Given the description of an element on the screen output the (x, y) to click on. 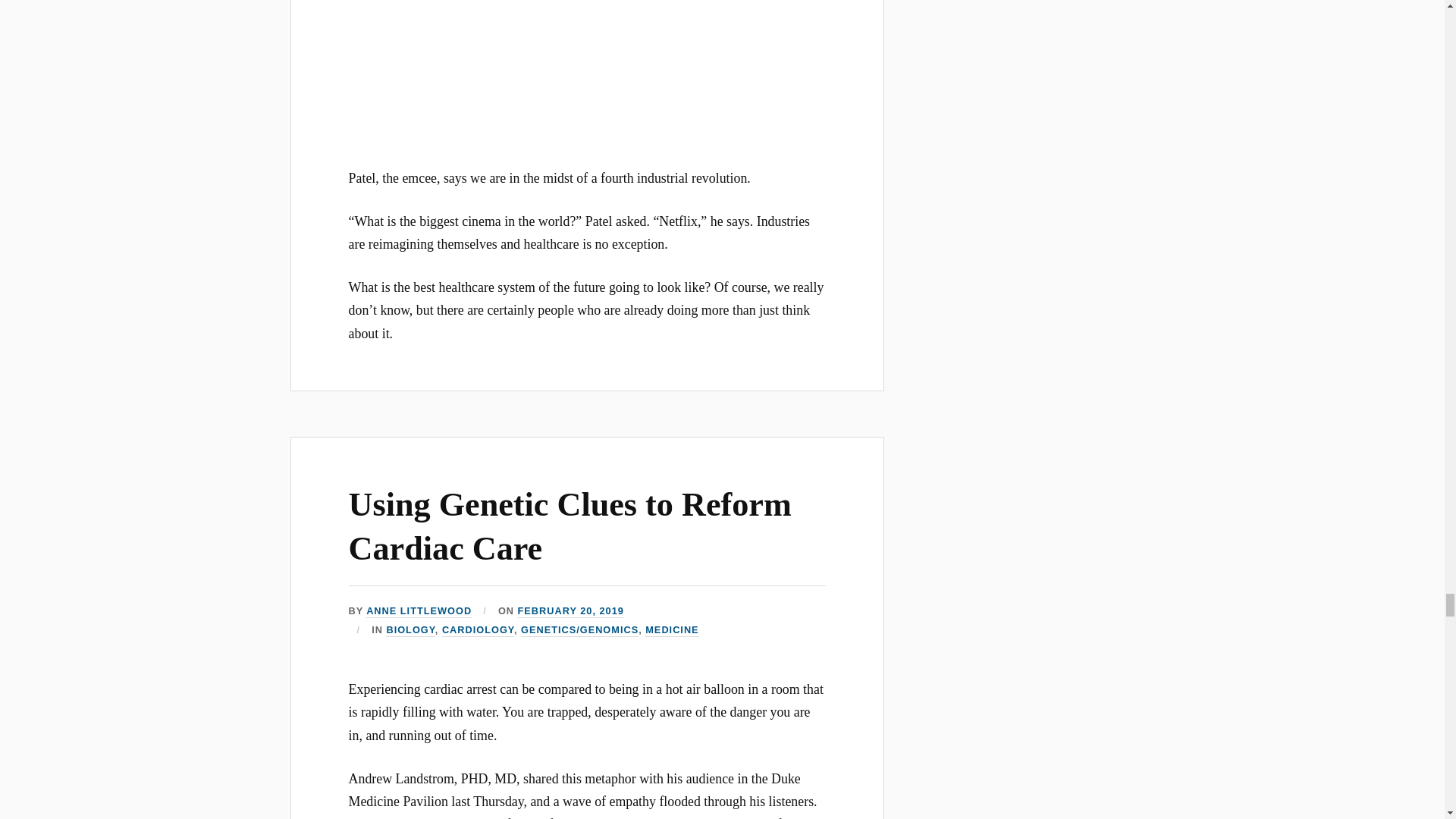
Posts by Anne Littlewood (418, 611)
